Given the description of an element on the screen output the (x, y) to click on. 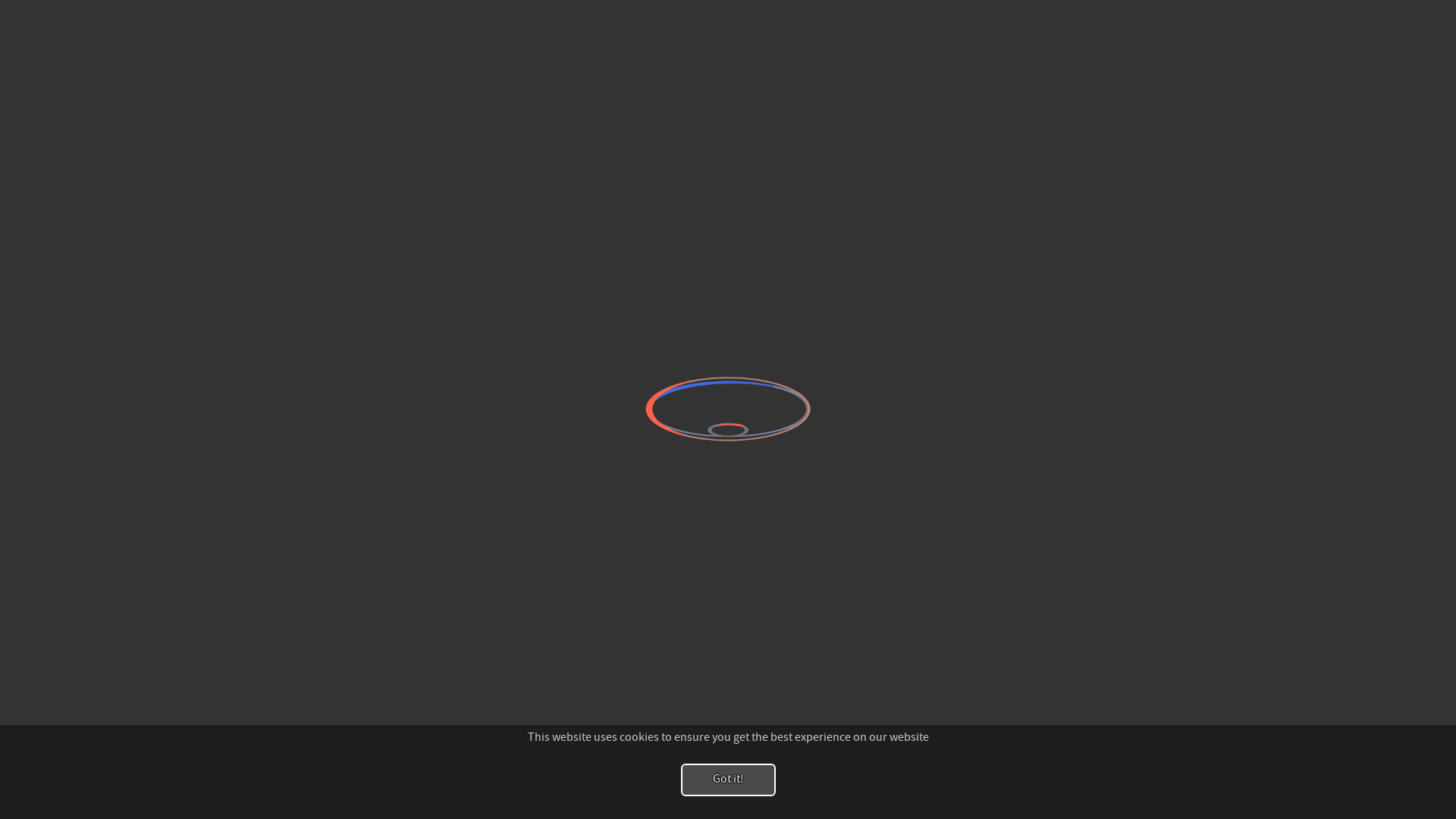
Skip to main content Element type: text (0, 0)
EP Department Element type: text (942, 351)
Users' Office Element type: text (551, 293)
HOME Element type: text (1202, 43)
v Element type: text (309, 299)
NEWS Element type: text (1262, 43)
1 Element type: text (445, 299)
J Element type: text (343, 299)
Admin e-guide Contacts Element type: text (579, 351)
HR Key Contacts Element type: text (559, 322)
Directory Element type: text (1361, 14)
Got it! Element type: text (727, 779)
CERN Element type: hover (1124, 280)
Copyright Element type: text (700, 489)
Directions Element type: text (737, 293)
CERN Guide for Newcomers Element type: text (161, 40)
DAO Element type: text (915, 293)
M Element type: text (411, 299)
SEARCH Element type: text (1337, 43)
Experiment Secretariats Element type: text (964, 322)
Sign in Element type: text (1311, 14)
W Element type: text (377, 299)
CERN Accelerating science Element type: text (142, 14)
HR Home Element type: text (927, 380)
Webmasters Element type: text (448, 160)
